Given the description of an element on the screen output the (x, y) to click on. 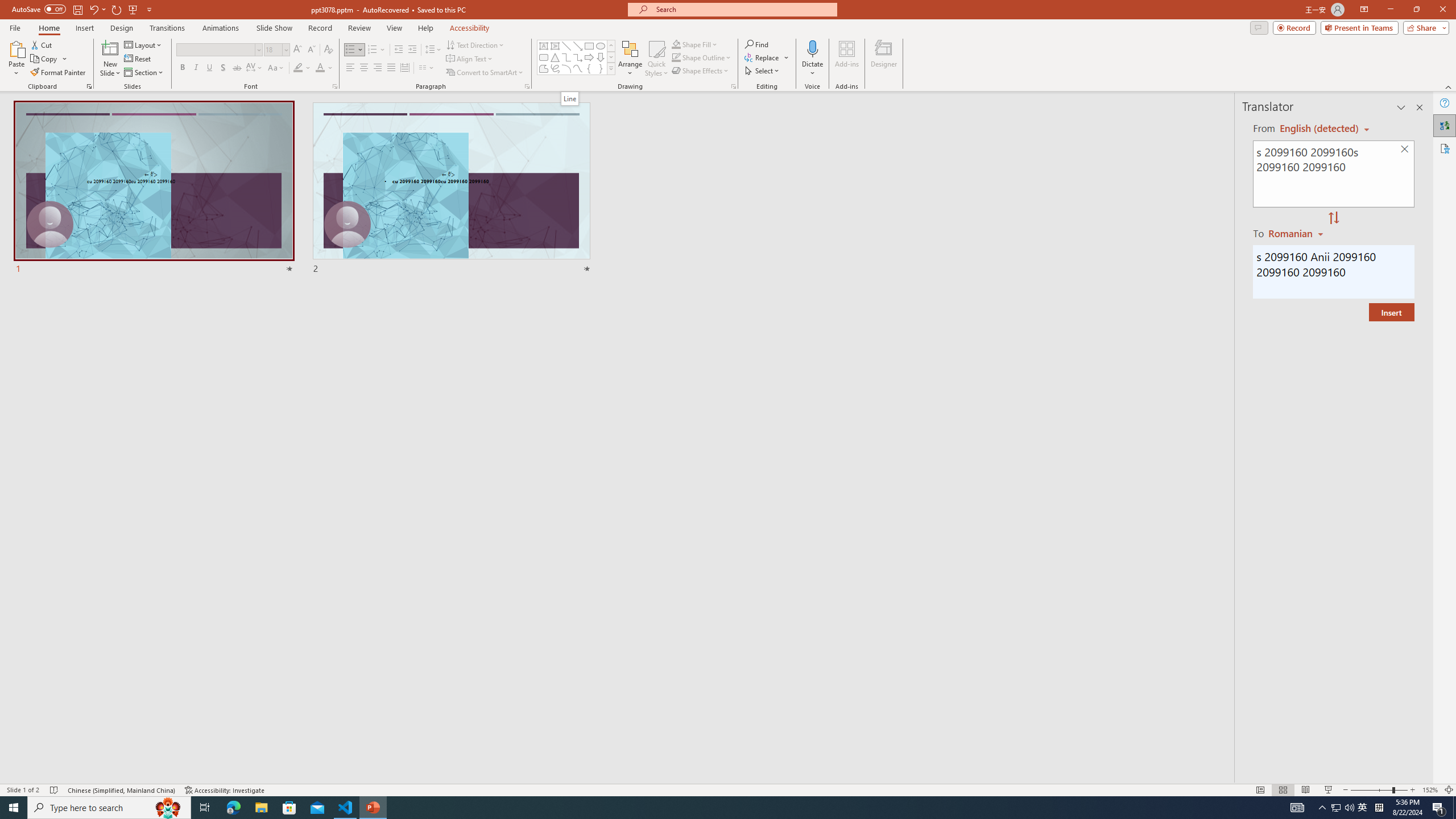
Arc (566, 68)
Curve (577, 68)
Strikethrough (237, 67)
Zoom 152% (1430, 790)
Increase Font Size (297, 49)
